Given the description of an element on the screen output the (x, y) to click on. 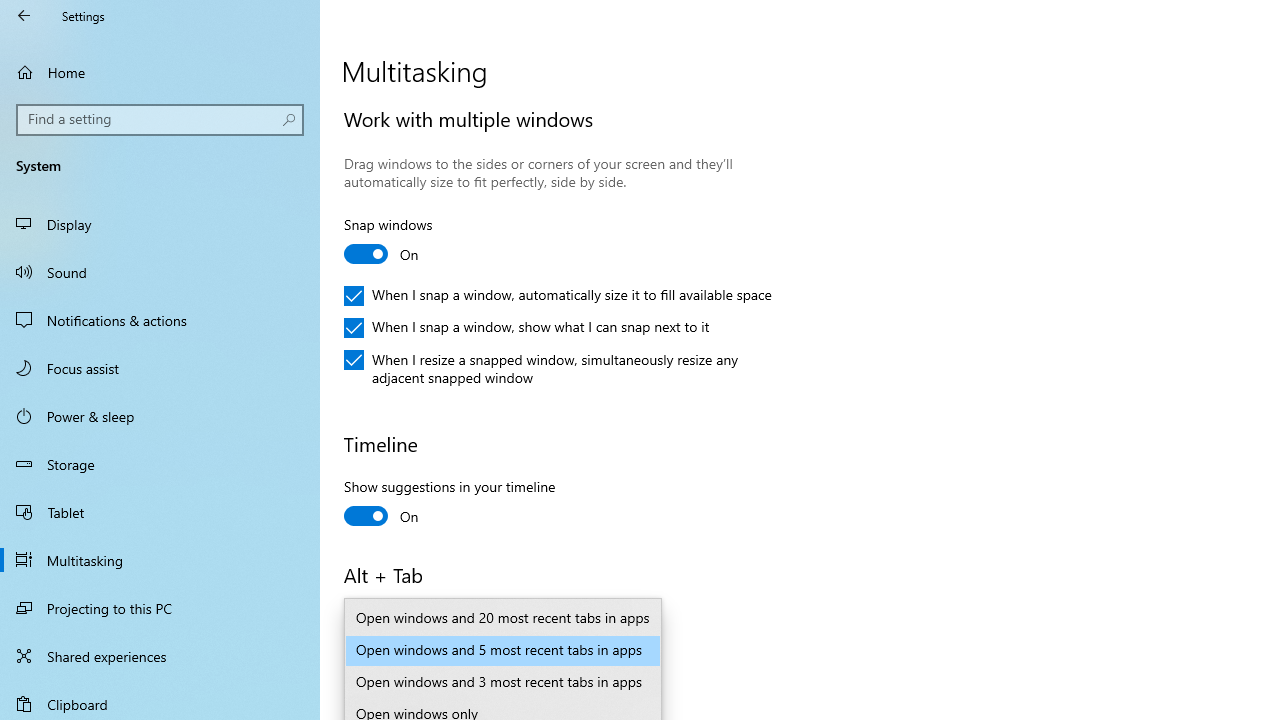
Show suggestions in your timeline (449, 504)
Storage (160, 463)
Power & sleep (160, 415)
Open windows and 5 most recent tabs in apps (502, 650)
Sound (160, 271)
Open windows and 20 most recent tabs in apps (502, 619)
Focus assist (160, 367)
Multitasking (160, 559)
Search box, Find a setting (160, 119)
Display (160, 223)
Tablet (160, 511)
Projecting to this PC (160, 607)
Shared experiences (160, 655)
Snap windows (417, 242)
